Given the description of an element on the screen output the (x, y) to click on. 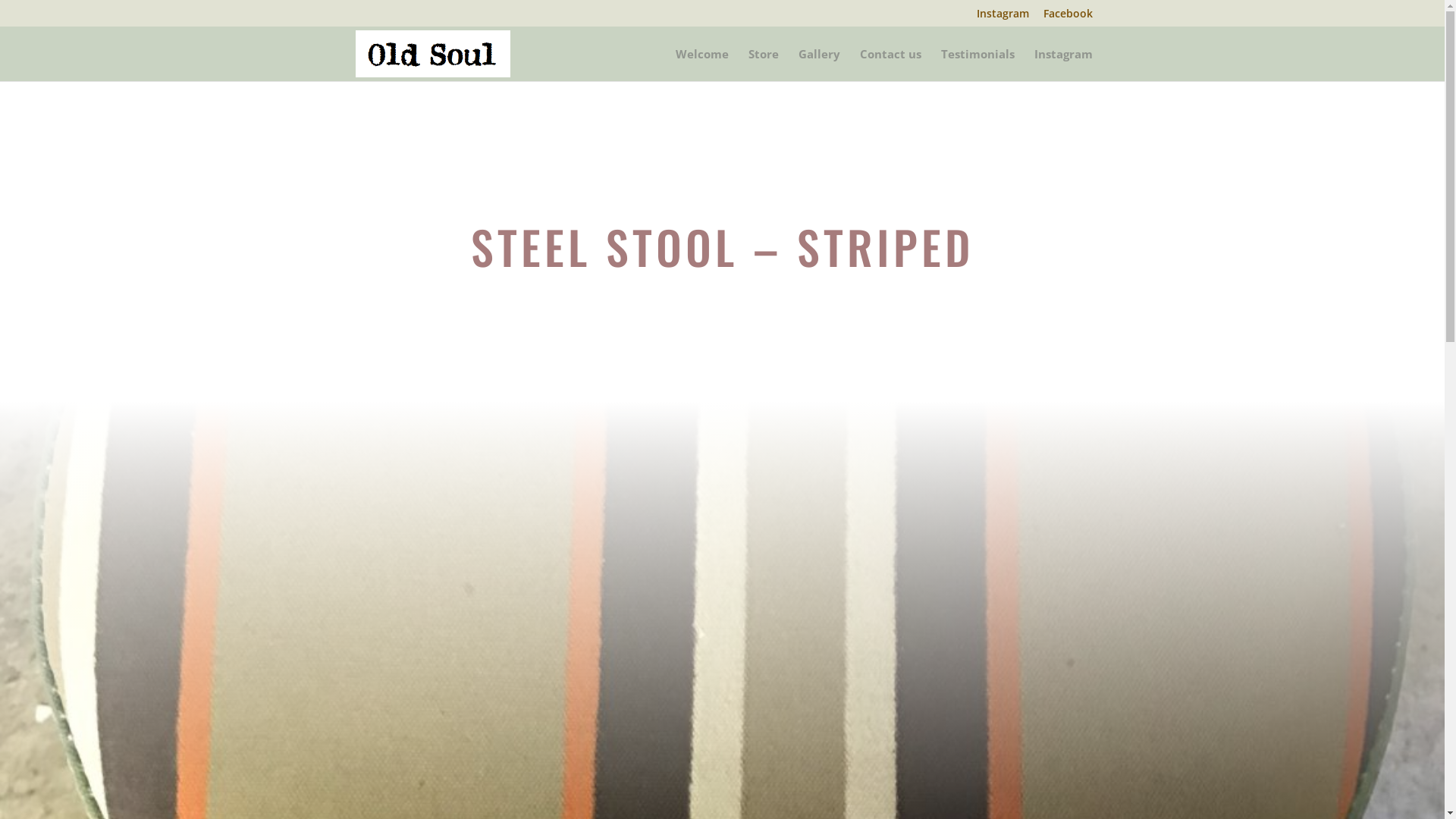
Instagram Element type: text (1063, 64)
Contact us Element type: text (890, 64)
Welcome Element type: text (701, 64)
Facebook Element type: text (1067, 16)
Testimonials Element type: text (976, 64)
Store Element type: text (762, 64)
Gallery Element type: text (818, 64)
Instagram Element type: text (1002, 16)
